Given the description of an element on the screen output the (x, y) to click on. 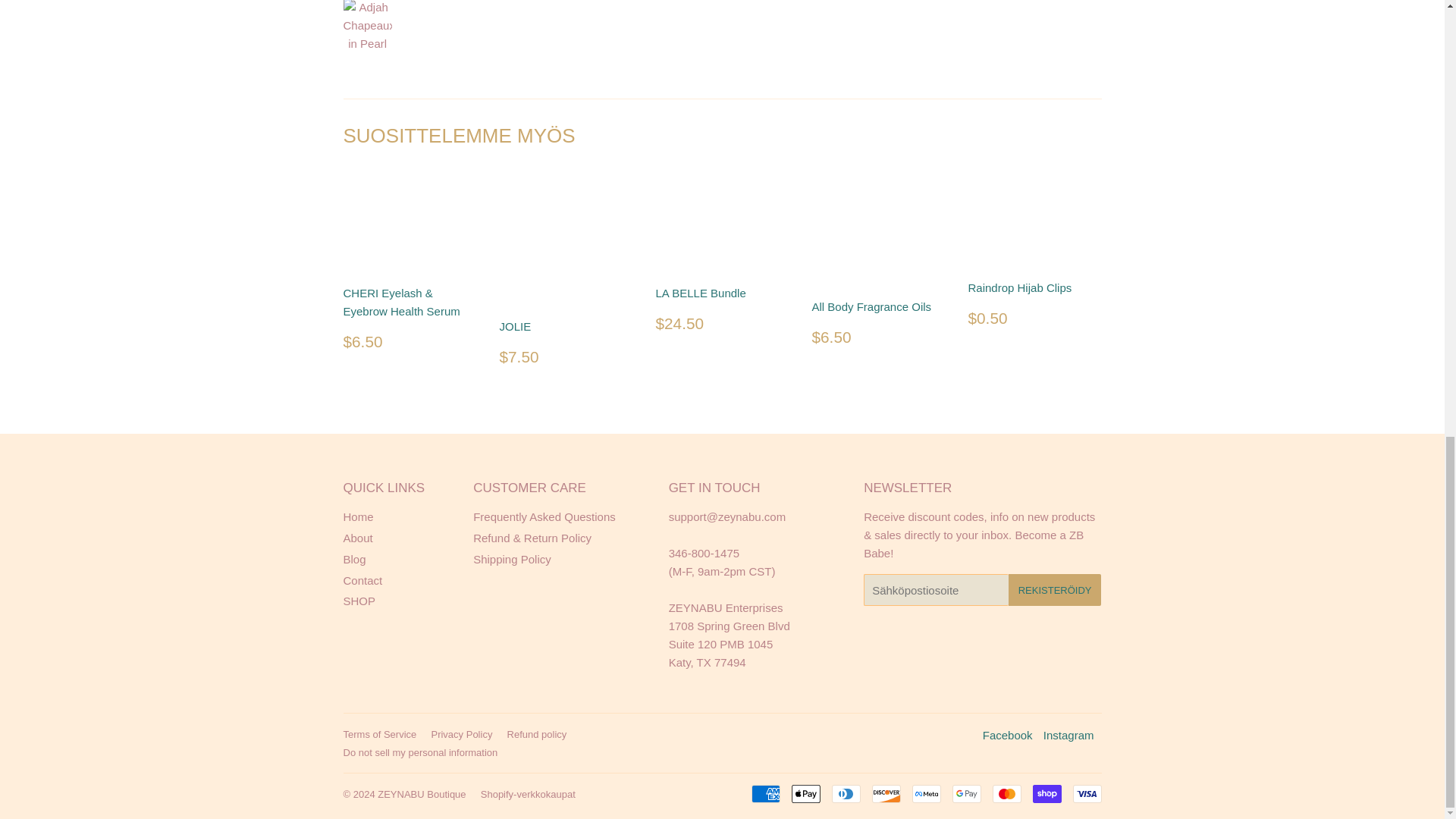
American Express (764, 793)
ZEYNABU Boutique laitteella Facebook (1007, 734)
Meta Pay (925, 793)
Apple Pay (806, 793)
ZEYNABU Boutique laitteella Instagram (1068, 734)
Shop Pay (1046, 793)
Mastercard (1005, 793)
Visa (1085, 793)
Google Pay (966, 793)
Discover (886, 793)
Diners Club (845, 793)
